Given the description of an element on the screen output the (x, y) to click on. 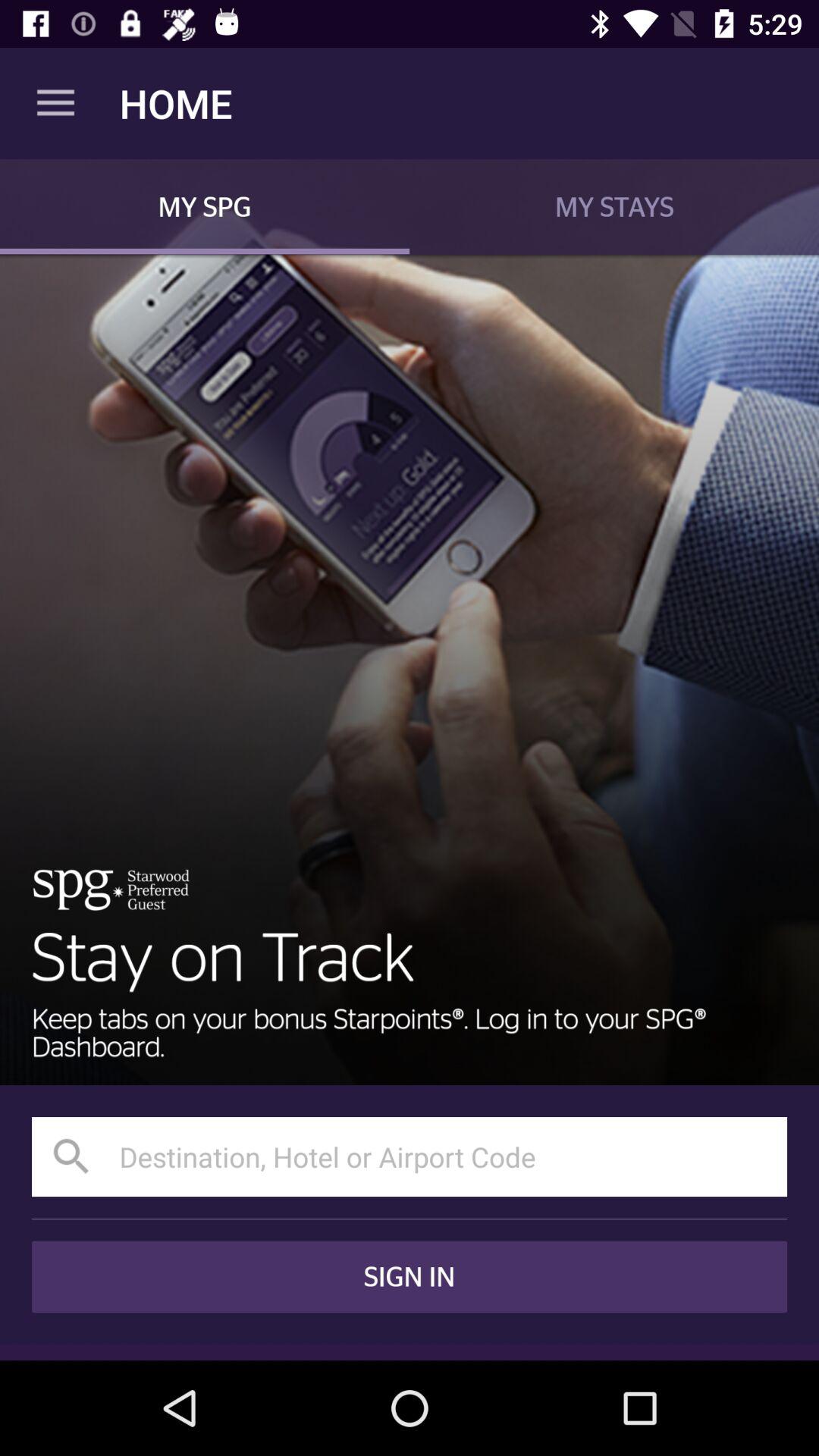
input text (409, 1156)
